Given the description of an element on the screen output the (x, y) to click on. 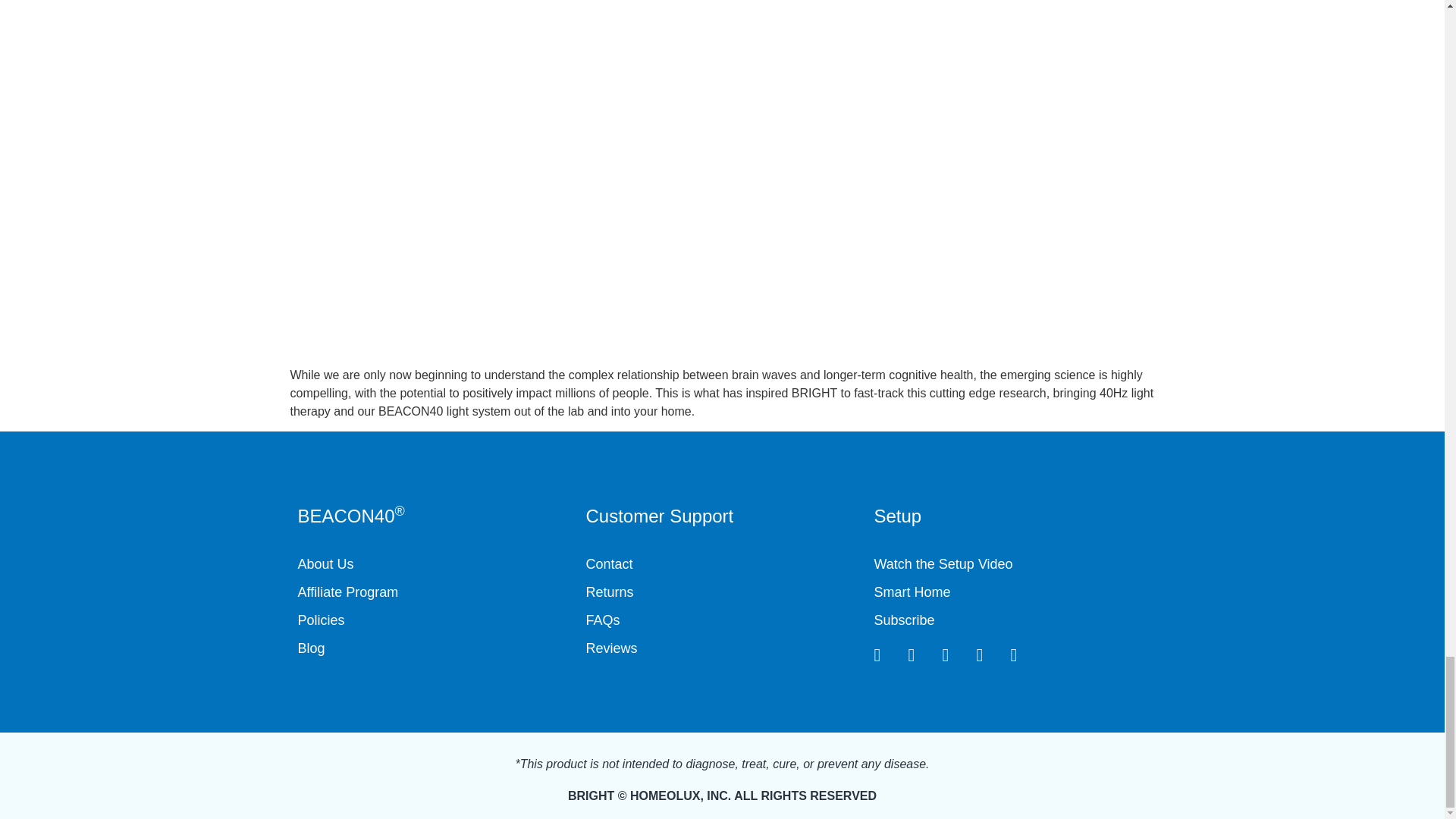
Contact (722, 564)
About Us (433, 564)
Blog (433, 648)
Affiliate Program (433, 592)
Policies (433, 620)
Returns (722, 592)
